Given the description of an element on the screen output the (x, y) to click on. 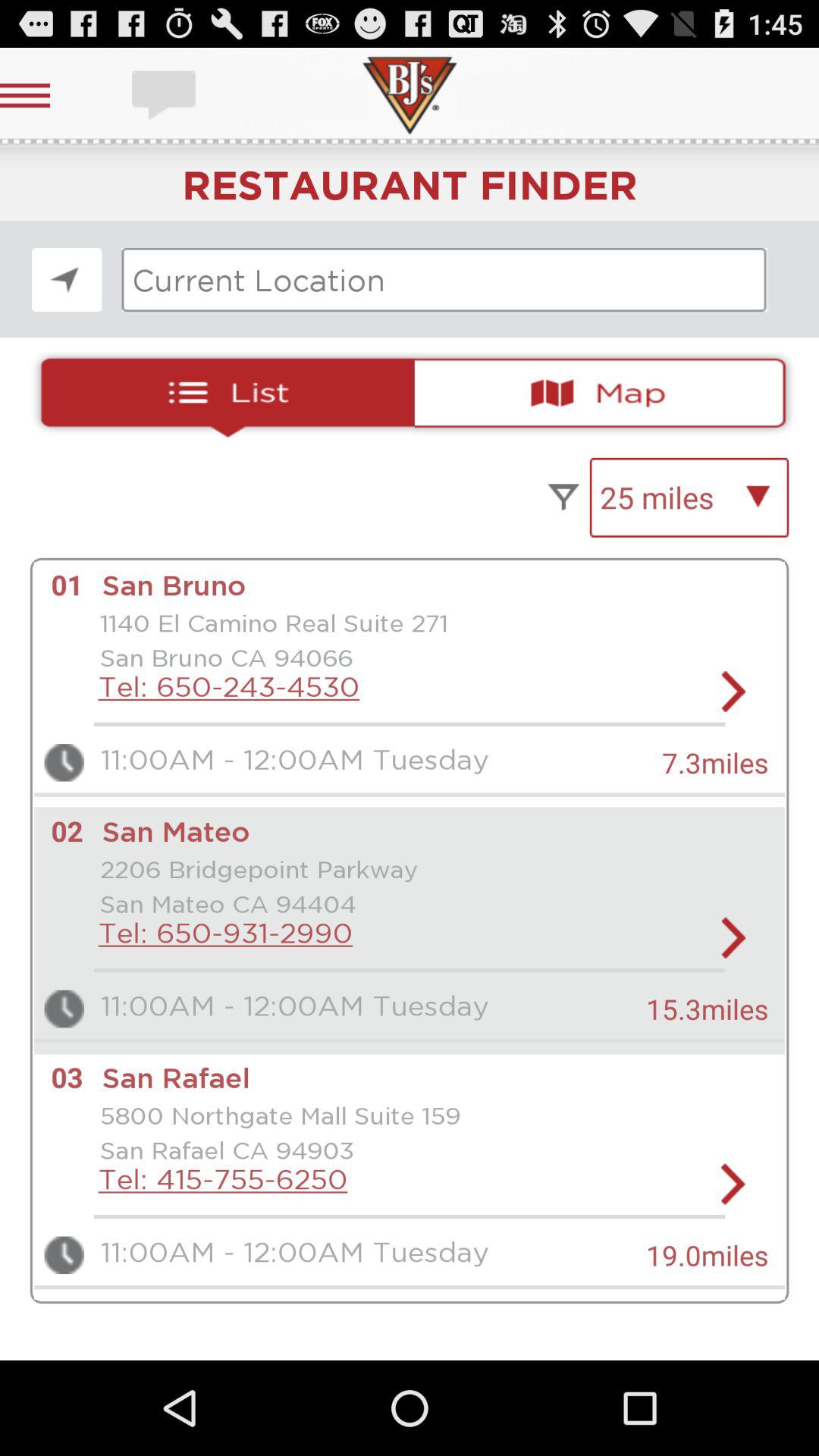
go to maps (606, 392)
